Given the description of an element on the screen output the (x, y) to click on. 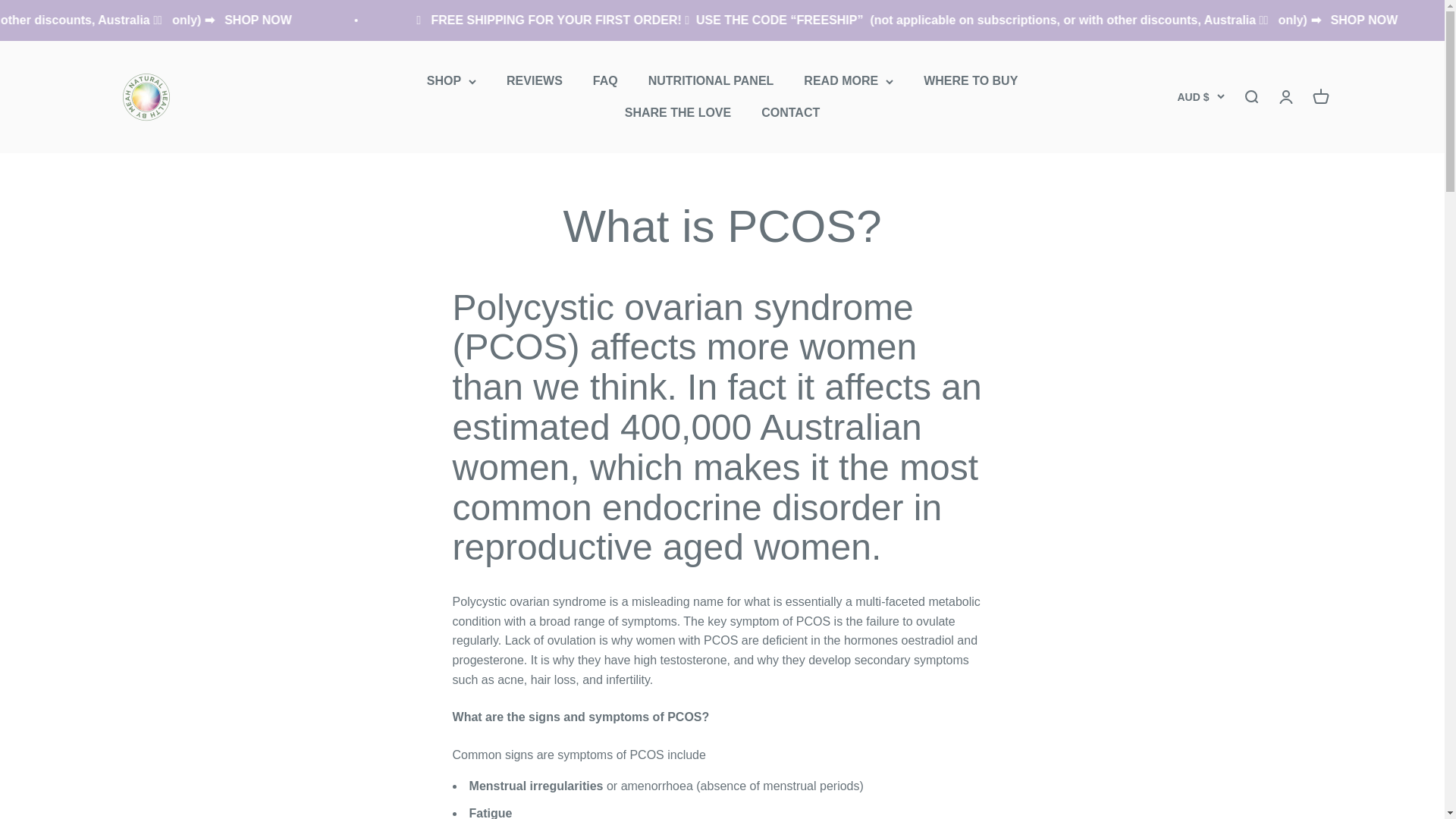
NUTRITIONAL PANEL (710, 80)
FAQ (604, 80)
REVIEWS (534, 80)
